Given the description of an element on the screen output the (x, y) to click on. 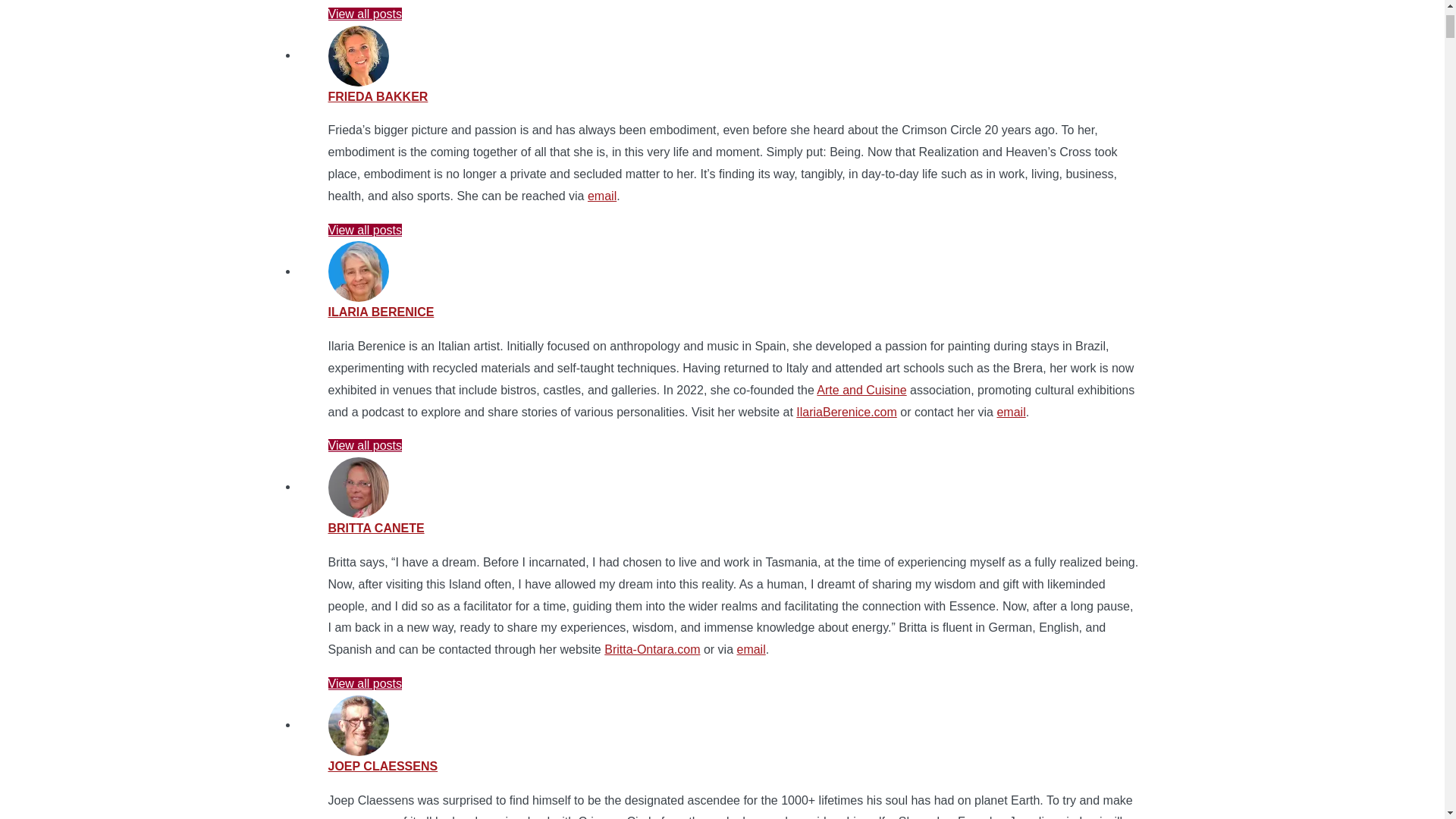
View all posts (364, 445)
View all posts (364, 229)
FRIEDA BAKKER (377, 96)
email (601, 195)
Ilaria Berenice (380, 311)
Frieda Bakker (377, 96)
View all posts (364, 13)
Britta Canete (375, 527)
View all posts (364, 229)
View all posts (364, 13)
